Given the description of an element on the screen output the (x, y) to click on. 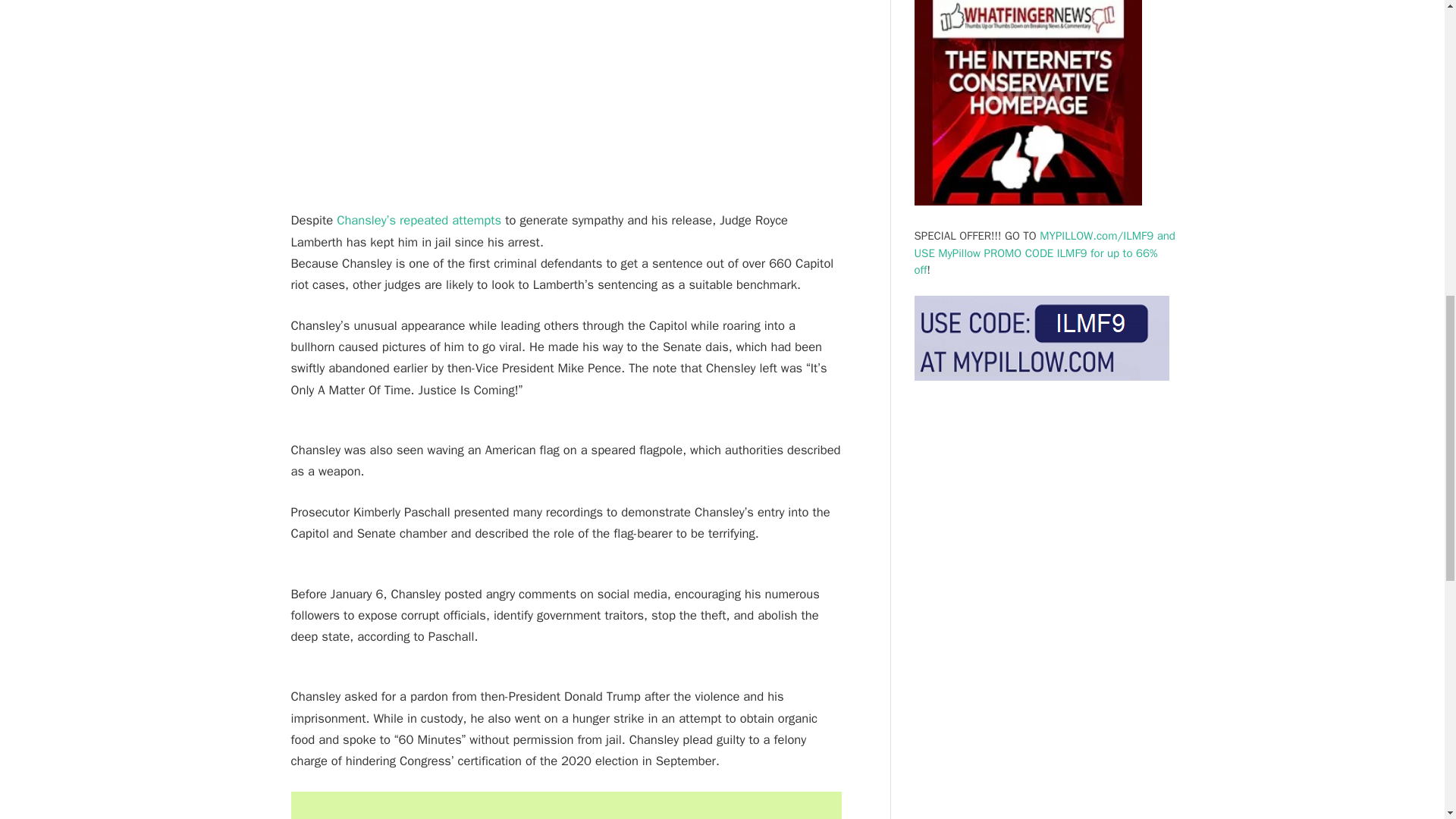
Whatfinger News (1027, 104)
